Given the description of an element on the screen output the (x, y) to click on. 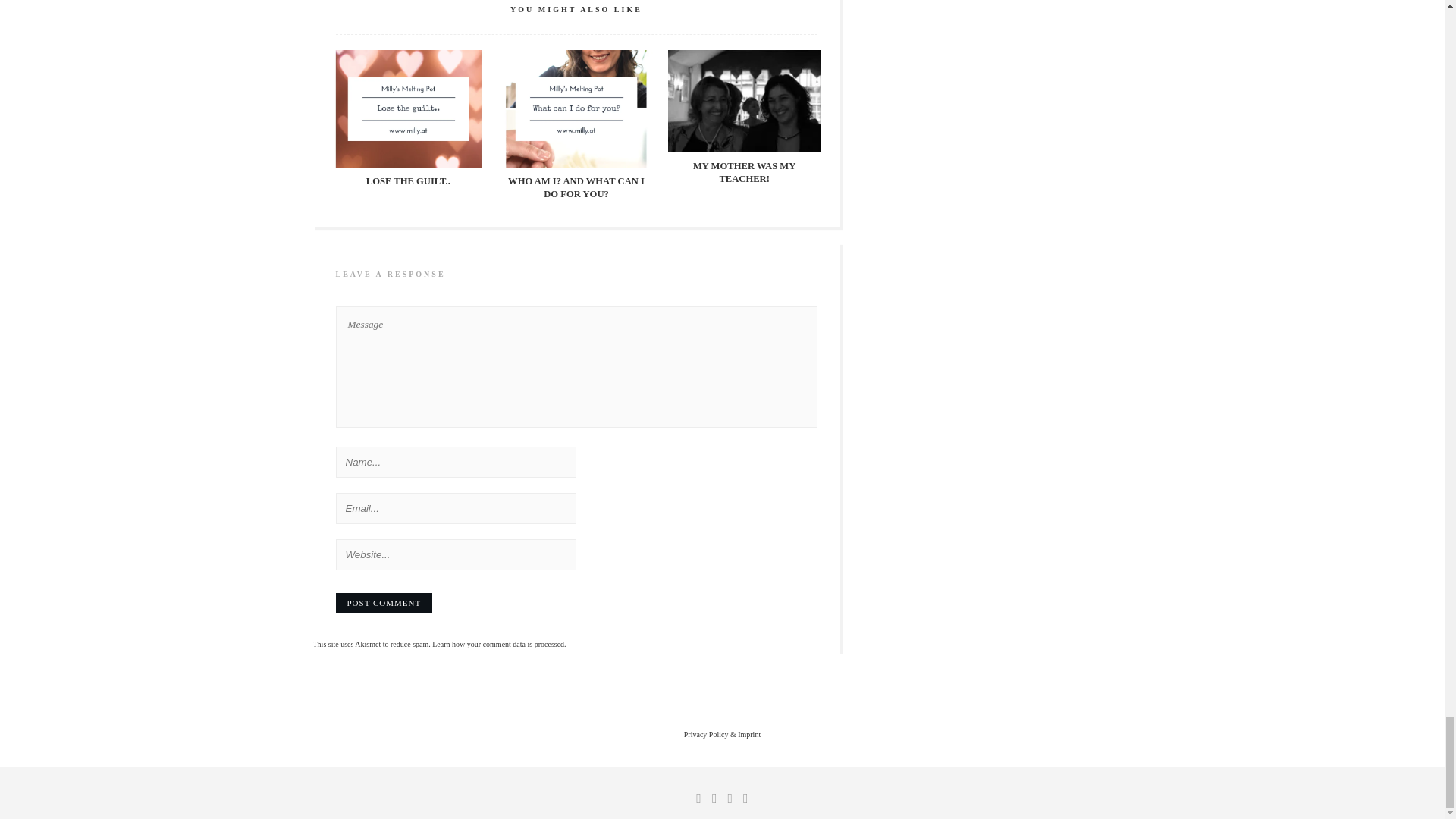
Lose the guilt.. (407, 181)
Post Comment (383, 602)
Lose the guilt.. (407, 108)
Who am I? And what can I do for you? (576, 187)
Who am I? And what can I do for you? (575, 108)
My mother was my teacher! (744, 100)
